Given the description of an element on the screen output the (x, y) to click on. 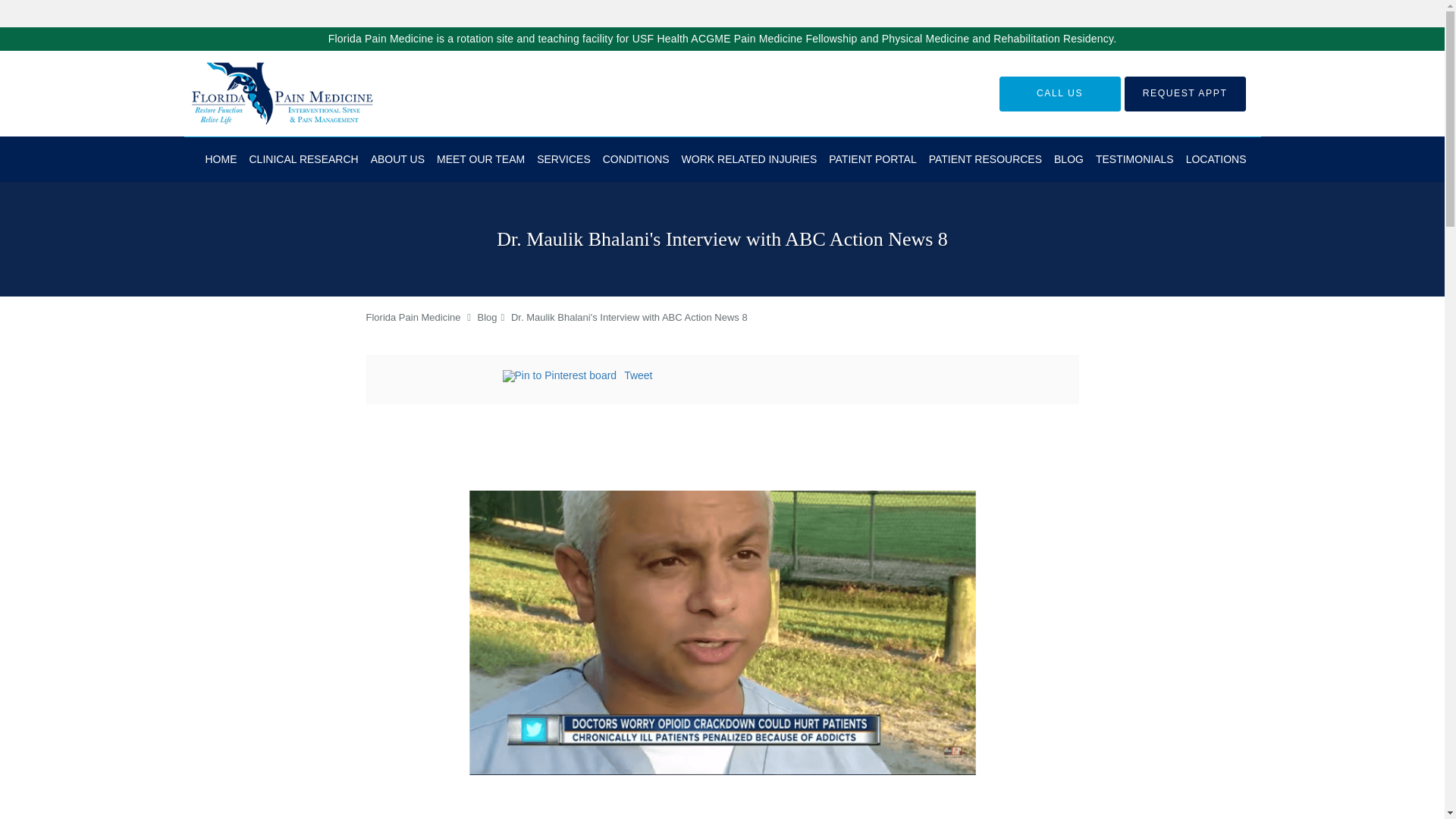
CLINICAL RESEARCH (303, 158)
REQUEST APPT (1184, 93)
ABOUT US (397, 158)
Facebook social button (441, 377)
CALL US (1059, 93)
MEET OUR TEAM (480, 158)
SERVICES (563, 158)
HOME (220, 158)
CONDITIONS (635, 158)
